Given the description of an element on the screen output the (x, y) to click on. 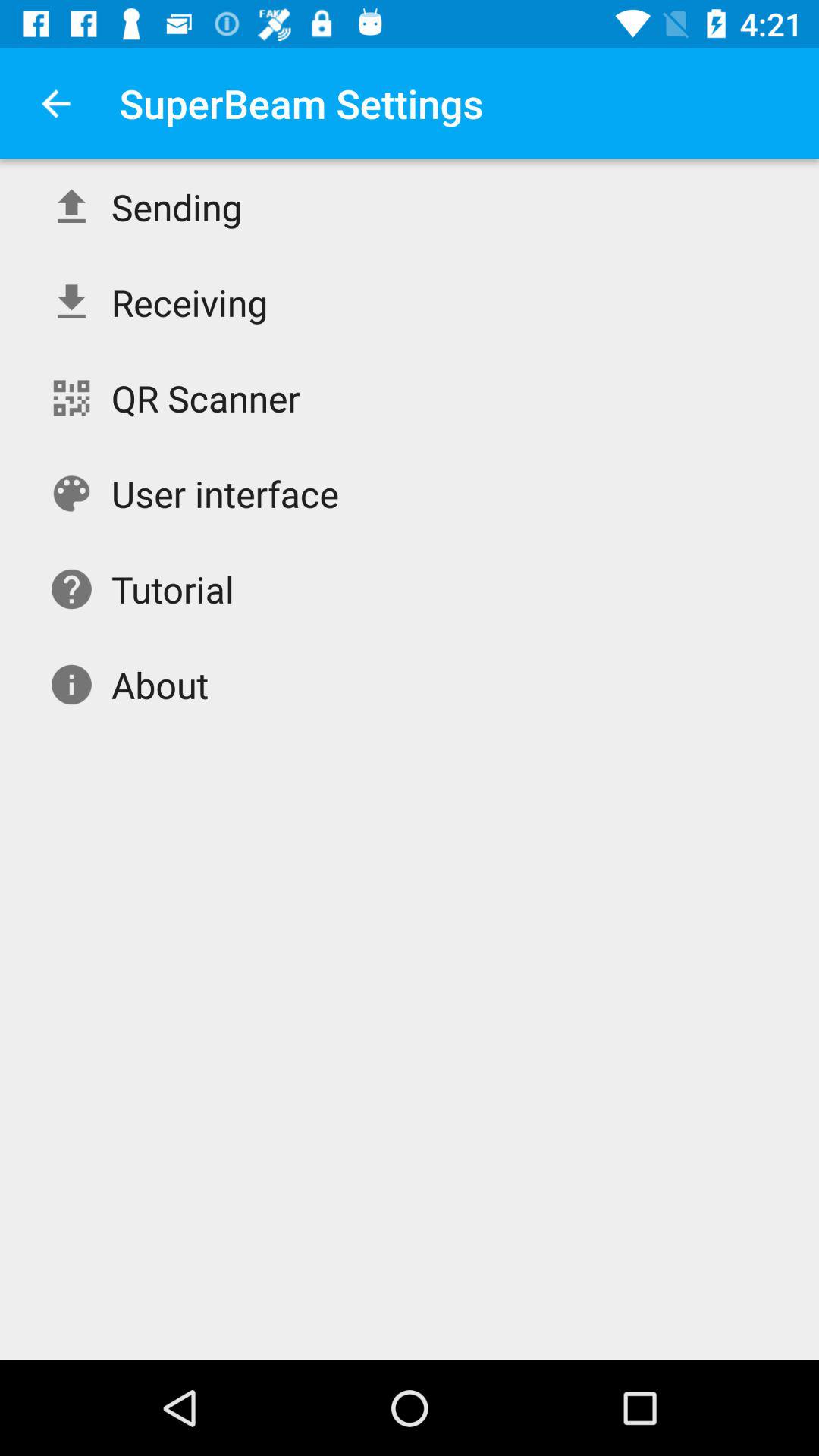
swipe until qr scanner item (205, 397)
